Given the description of an element on the screen output the (x, y) to click on. 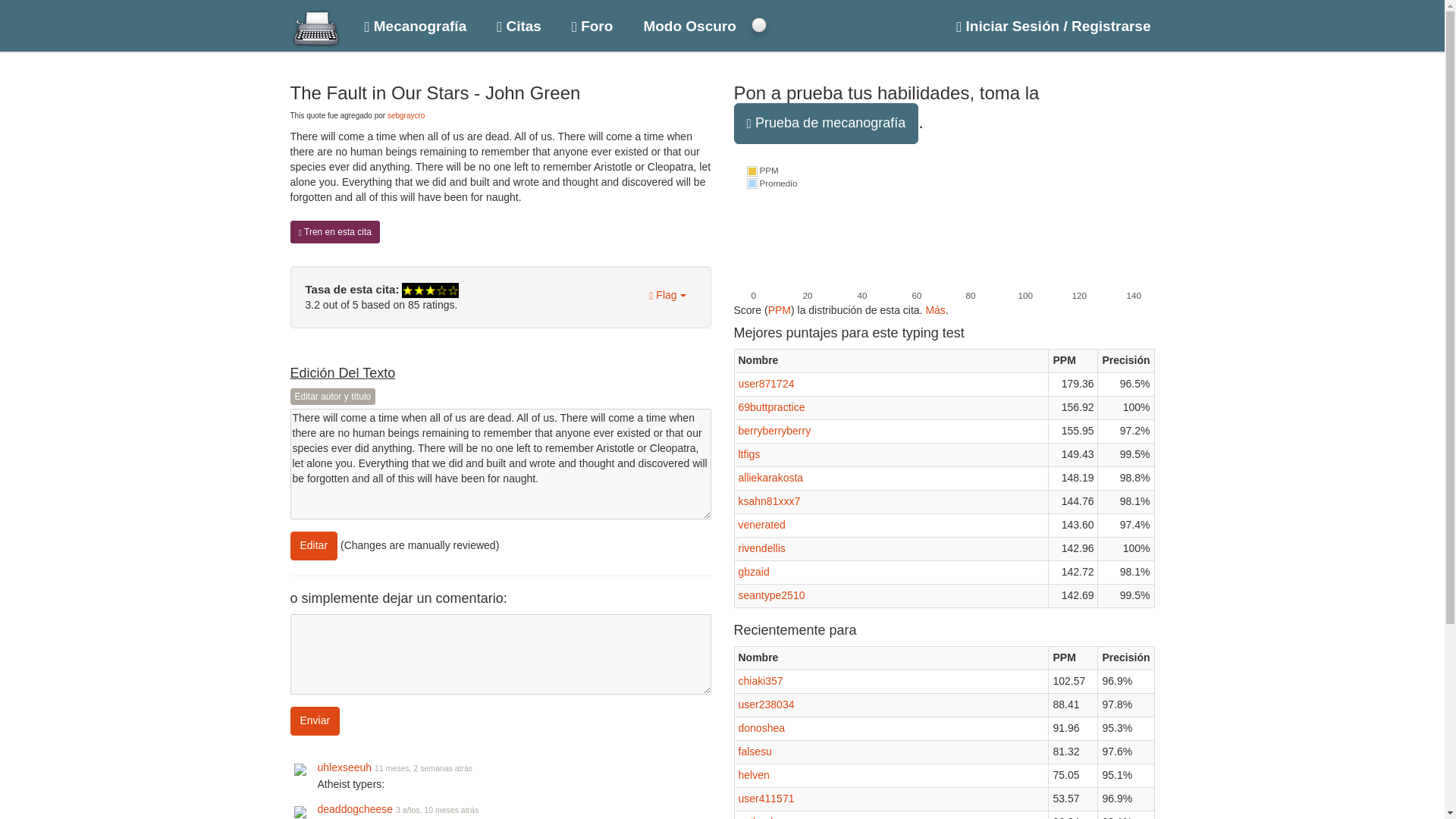
gbzaid (754, 571)
69buttpractice (771, 407)
chiaki357 (760, 680)
Click on the star to rate (429, 289)
ltfigs (749, 453)
venerated (762, 524)
seantype2510 (771, 594)
deaddogcheese (355, 808)
user238034 (766, 704)
ksahn81xxx7 (769, 500)
